Given the description of an element on the screen output the (x, y) to click on. 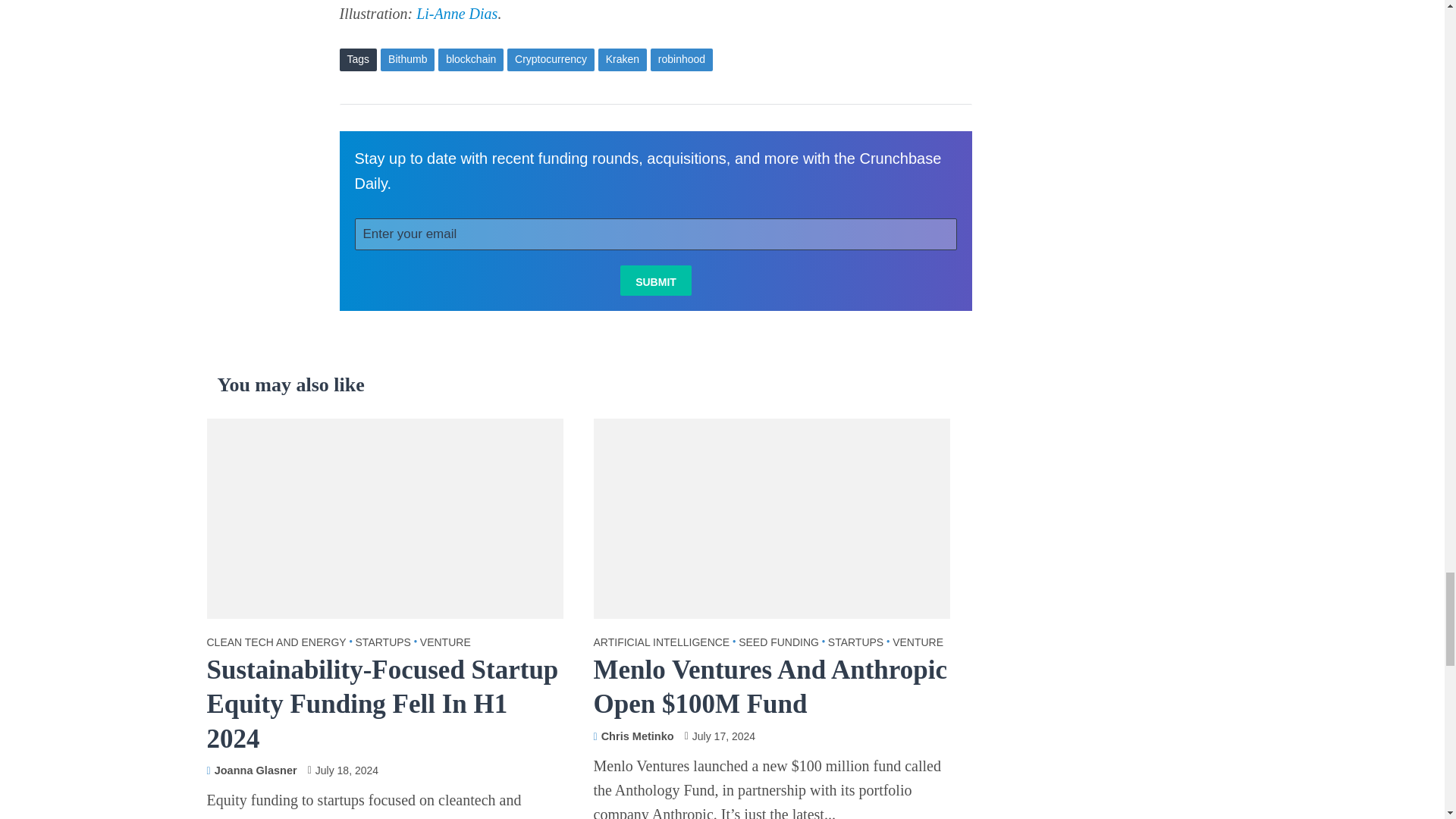
Submit (655, 280)
Enter your email (656, 234)
